Given the description of an element on the screen output the (x, y) to click on. 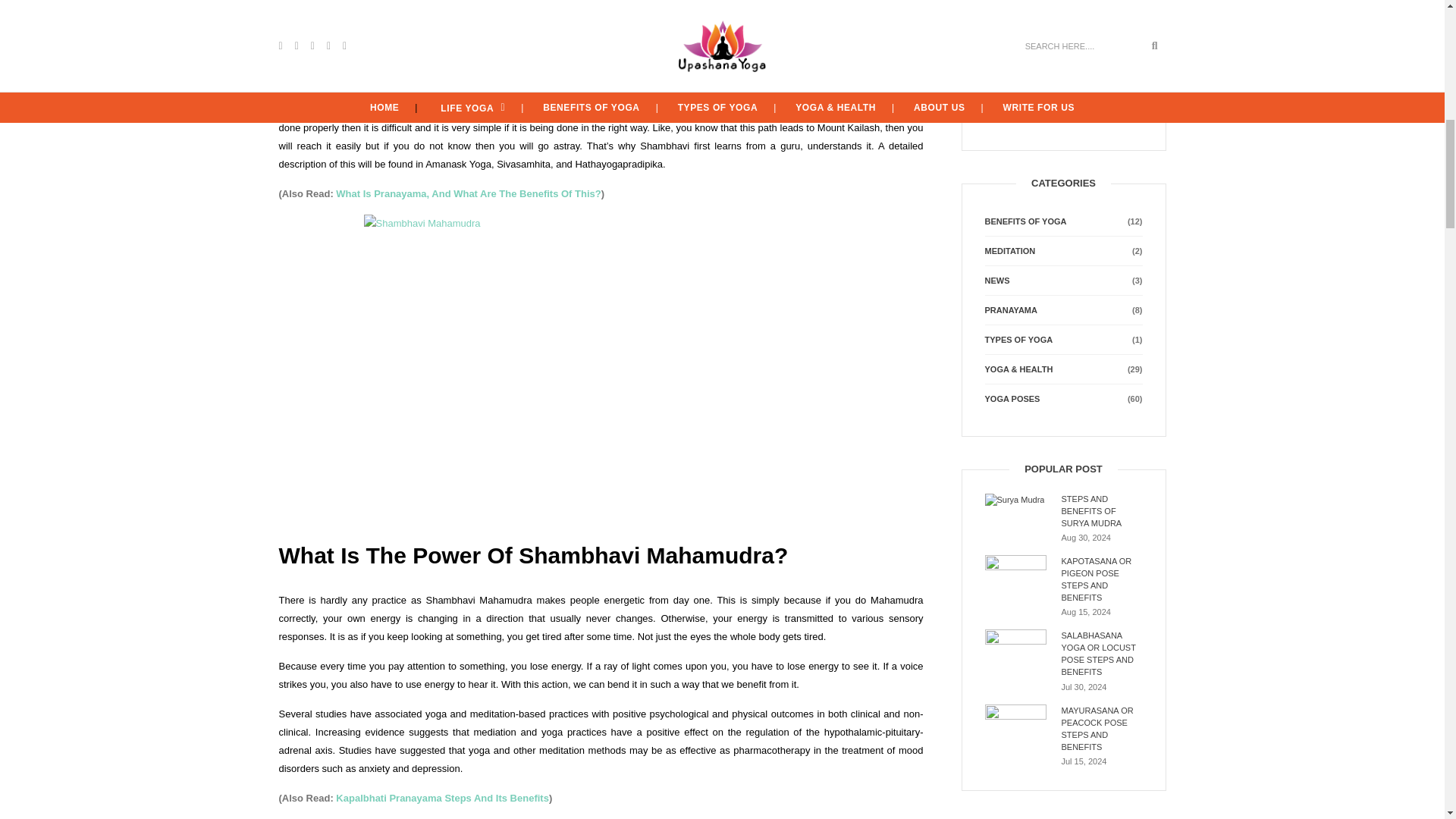
Subscribe (1014, 84)
Kapalbhati Pranayama Steps And Its Benefits (442, 797)
What Is Pranayama, And What Are The Benefits Of This? (467, 193)
